Given the description of an element on the screen output the (x, y) to click on. 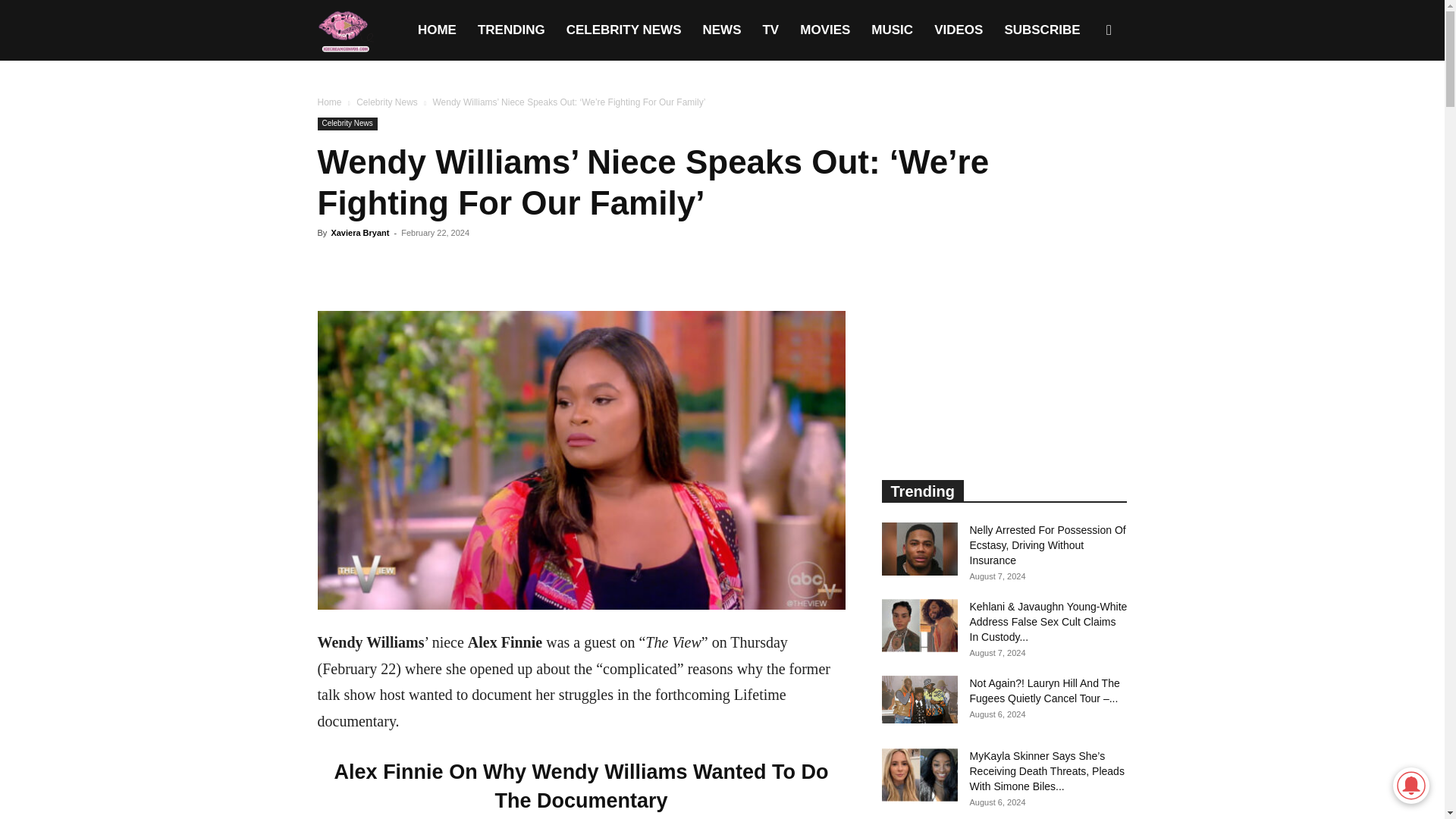
Celebrity News (386, 102)
HOME (437, 30)
VIDEOS (957, 30)
Celebrity News (347, 123)
NEWS (721, 30)
MUSIC (891, 30)
CELEBRITY NEWS (624, 30)
Home (328, 102)
Xaviera Bryant (359, 232)
Ice Cream Convos (344, 30)
